Given the description of an element on the screen output the (x, y) to click on. 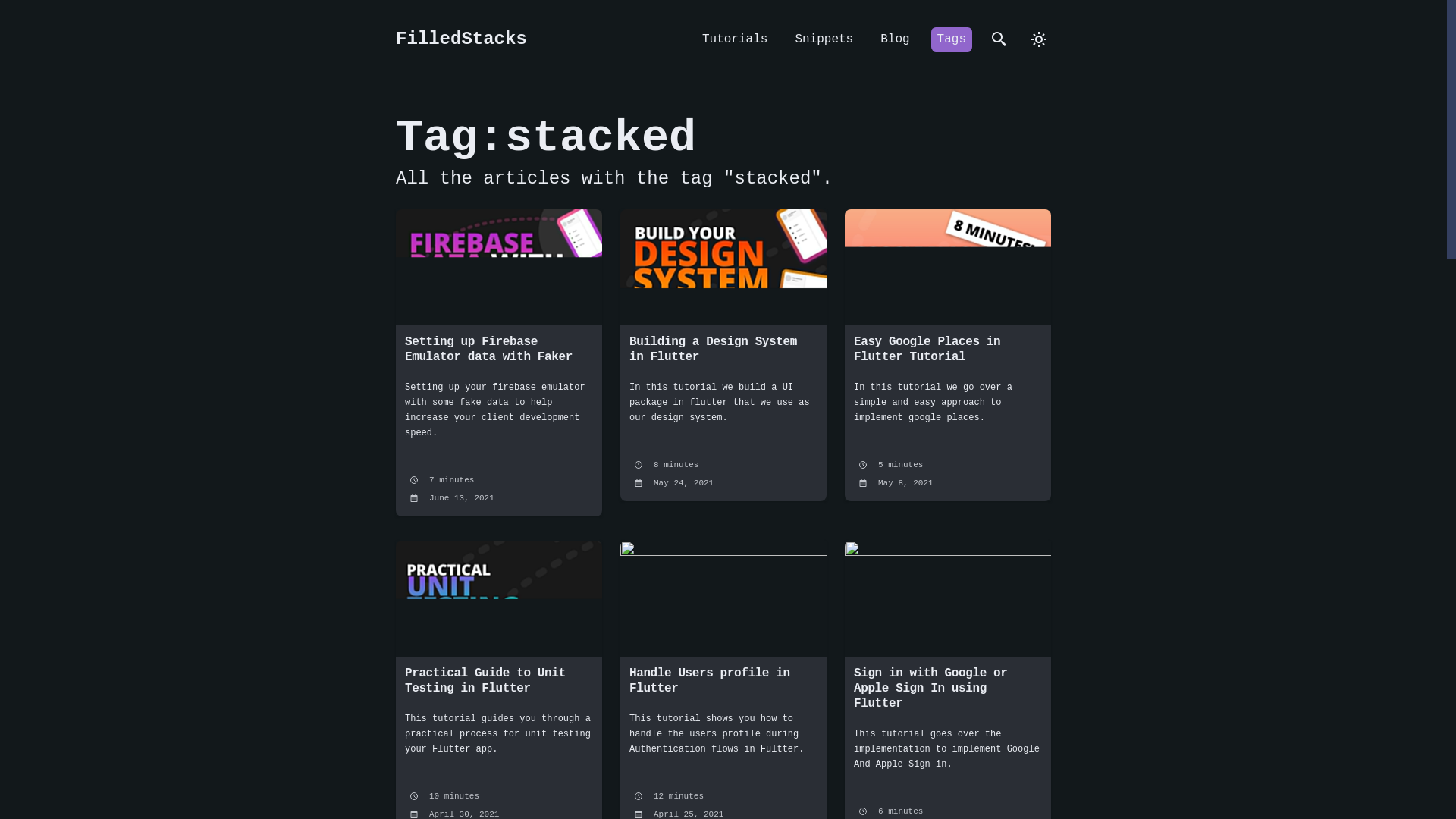
Blog (895, 39)
Snippets (824, 39)
Search (999, 39)
FilledStacks (461, 39)
Tags (951, 39)
Tutorials (734, 39)
